Given the description of an element on the screen output the (x, y) to click on. 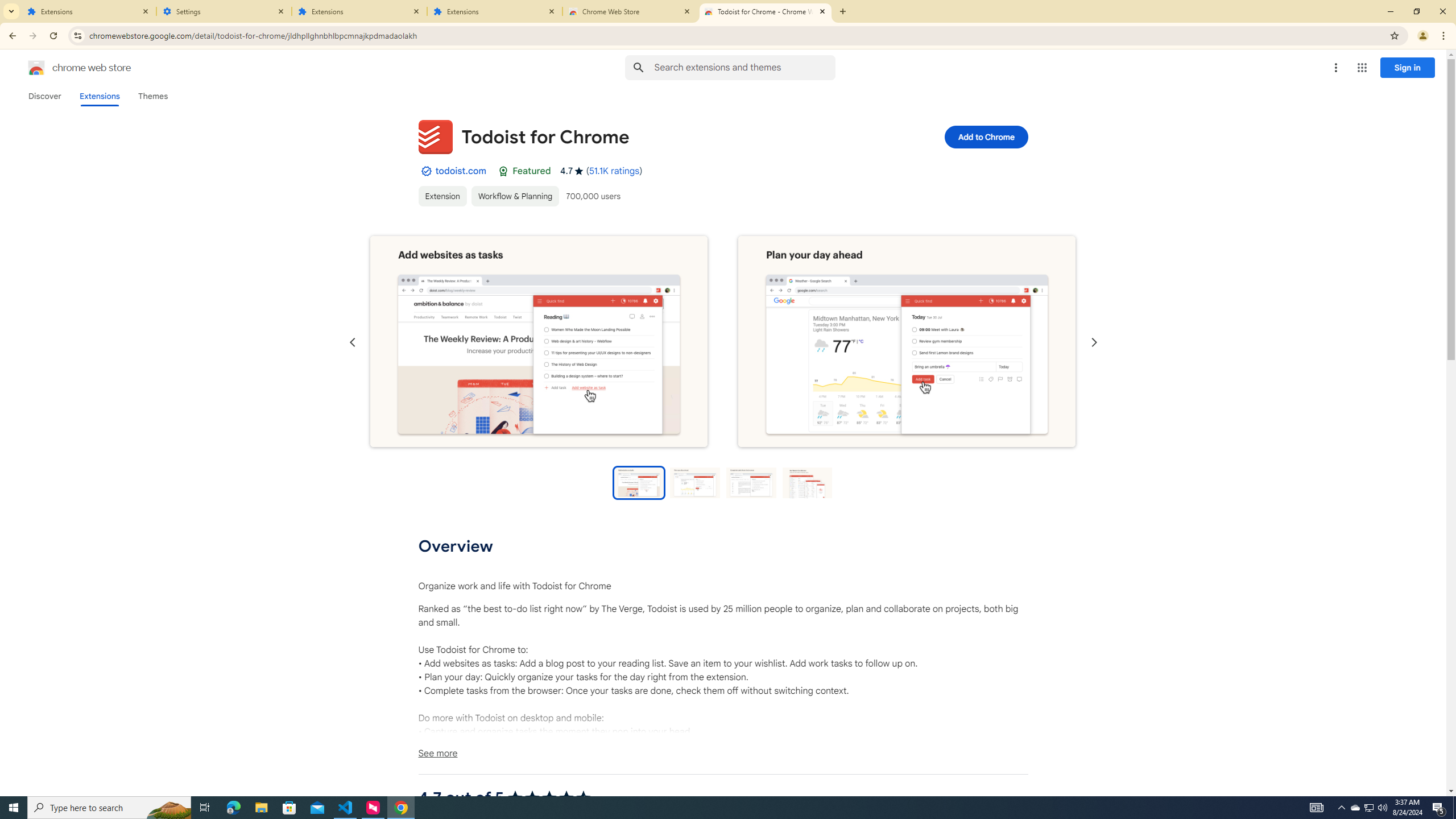
Previous slide (352, 342)
Todoist for Chrome - Chrome Web Store (765, 11)
Add to Chrome (985, 136)
Search input (744, 67)
Preview slide 1 (637, 482)
See more (722, 753)
